Given the description of an element on the screen output the (x, y) to click on. 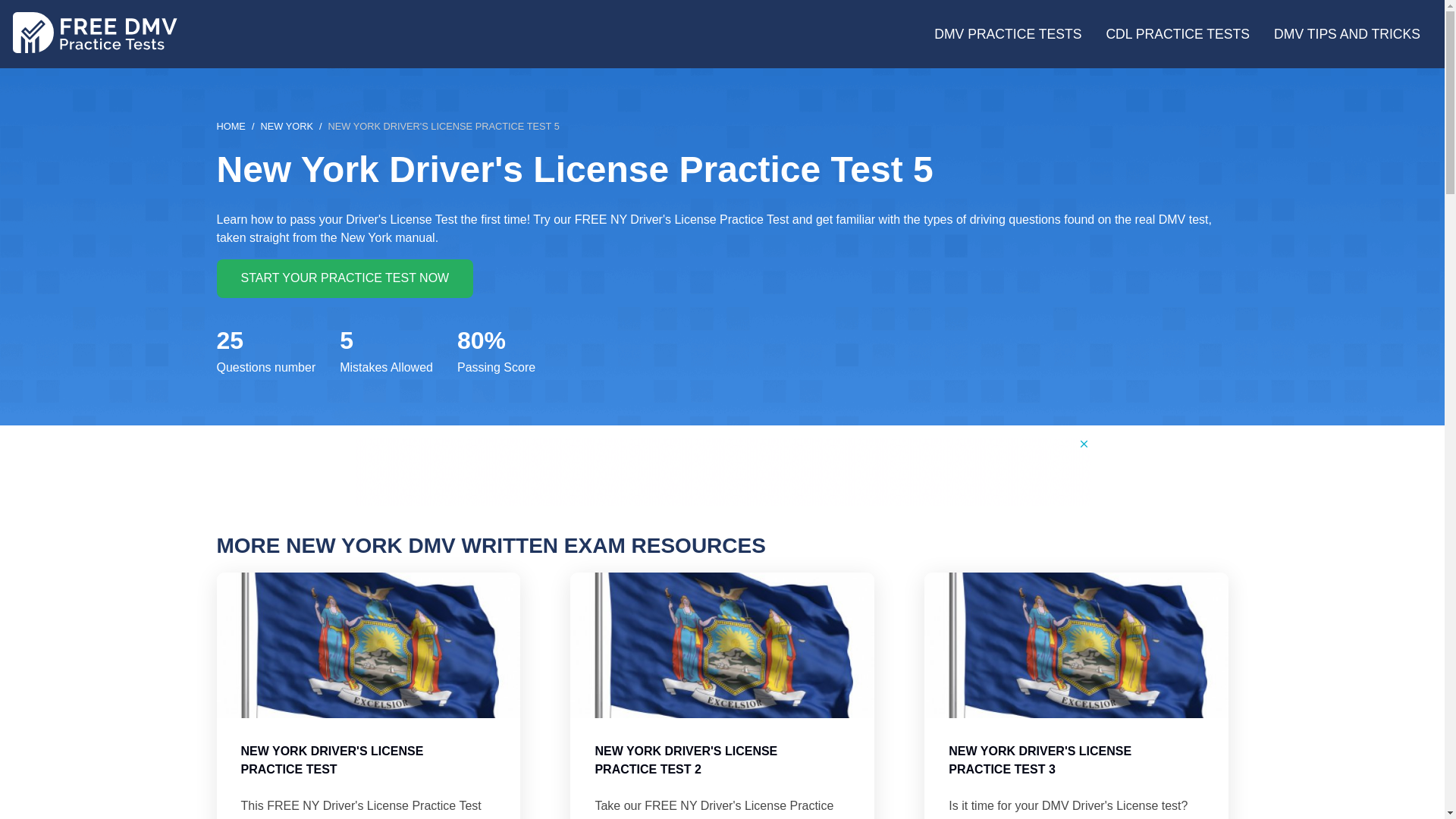
New York Driver's License Practice Test 2 (721, 695)
DMV PRACTICE TESTS (1007, 34)
Free DMV Practice Tests (1007, 34)
HOME (231, 125)
Free CDL Practice Tests (1177, 34)
3rd party ad content (722, 471)
CDL PRACTICE TESTS (1177, 34)
Start your practice test now (345, 278)
DMV TIPS AND TRICKS (1347, 34)
New York Driver's License Practice Test (367, 695)
New York Driver's License Practice Test 3 (1075, 695)
DMV Practice Tests Tips (1347, 34)
Start your practice test now (345, 278)
NEW YORK (286, 125)
